Given the description of an element on the screen output the (x, y) to click on. 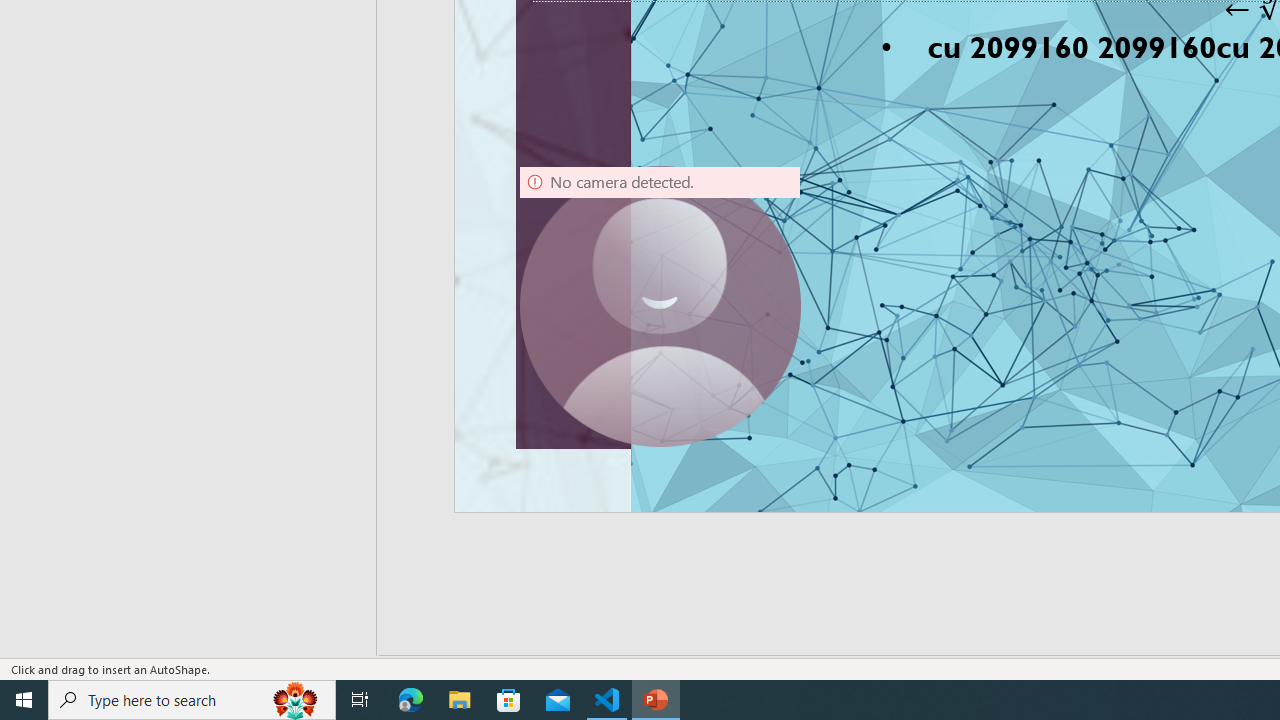
Camera 9, No camera detected. (660, 306)
